Given the description of an element on the screen output the (x, y) to click on. 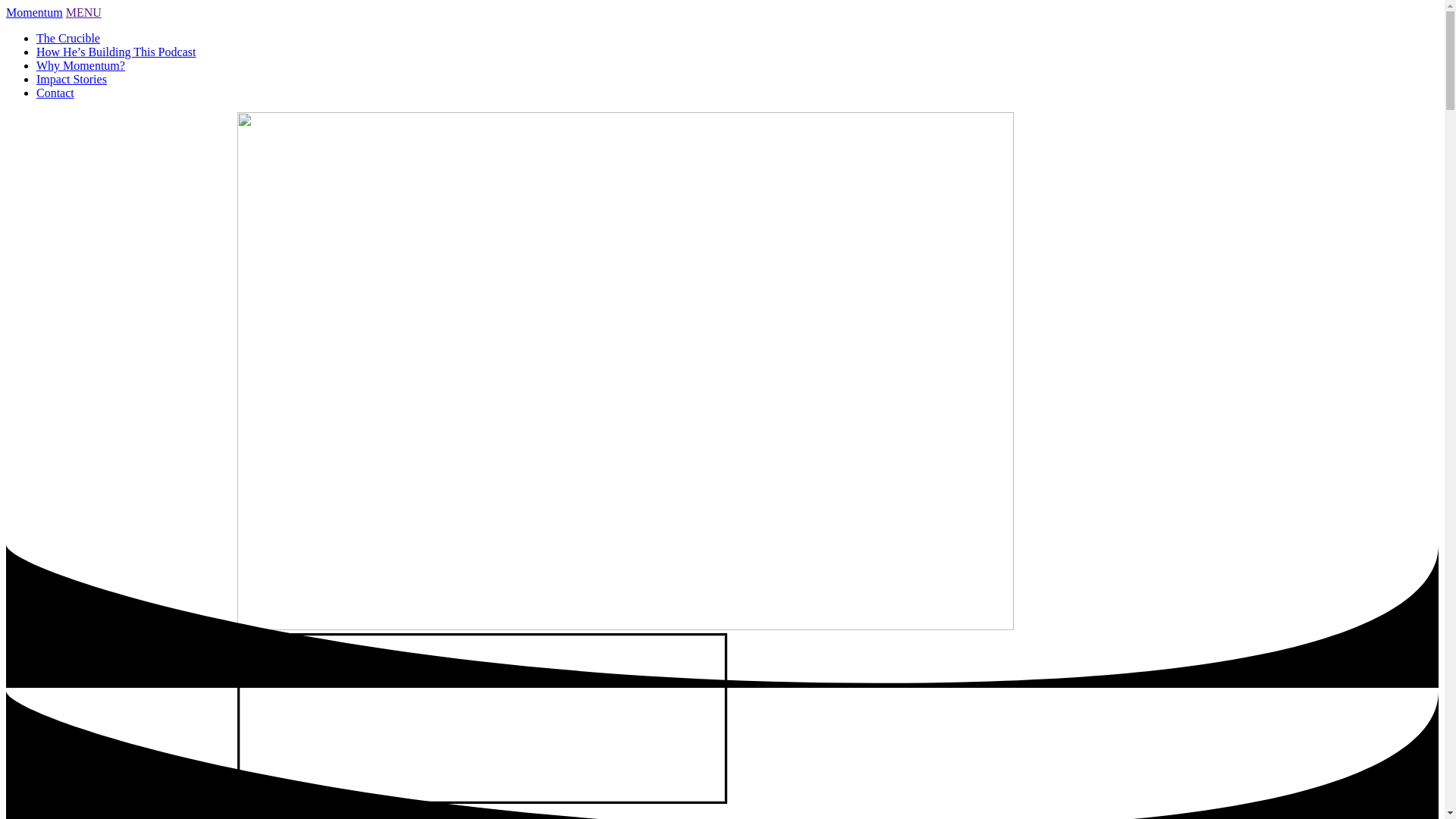
Contact Element type: text (55, 92)
MENU Element type: text (83, 12)
Impact Stories Element type: text (71, 78)
Momentum Element type: text (34, 12)
The Crucible Element type: text (68, 37)
Why Momentum? Element type: text (80, 65)
